Given the description of an element on the screen output the (x, y) to click on. 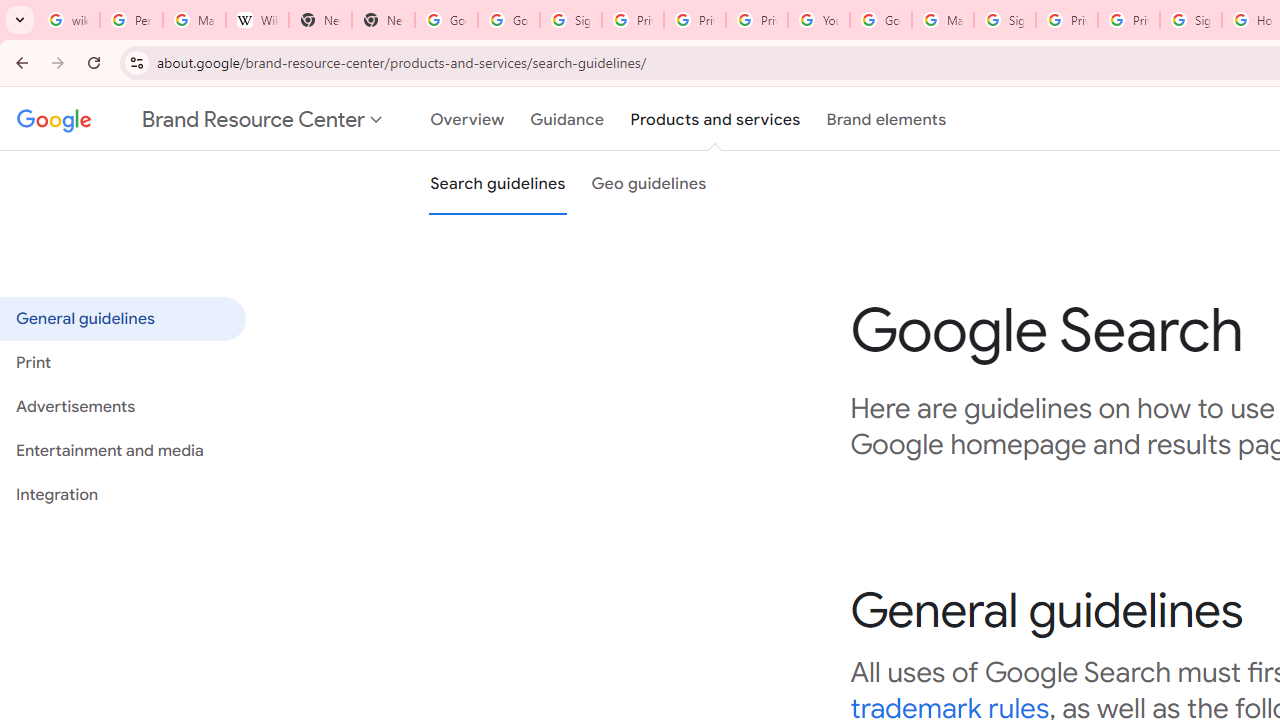
YouTube (818, 20)
Google site switcher (200, 119)
Products and services (715, 119)
Advertisements (122, 407)
Integration (122, 494)
Google Account Help (880, 20)
New Tab (383, 20)
New Tab (320, 20)
Sign in - Google Accounts (1190, 20)
Search guidelines (497, 183)
Print (122, 363)
